Given the description of an element on the screen output the (x, y) to click on. 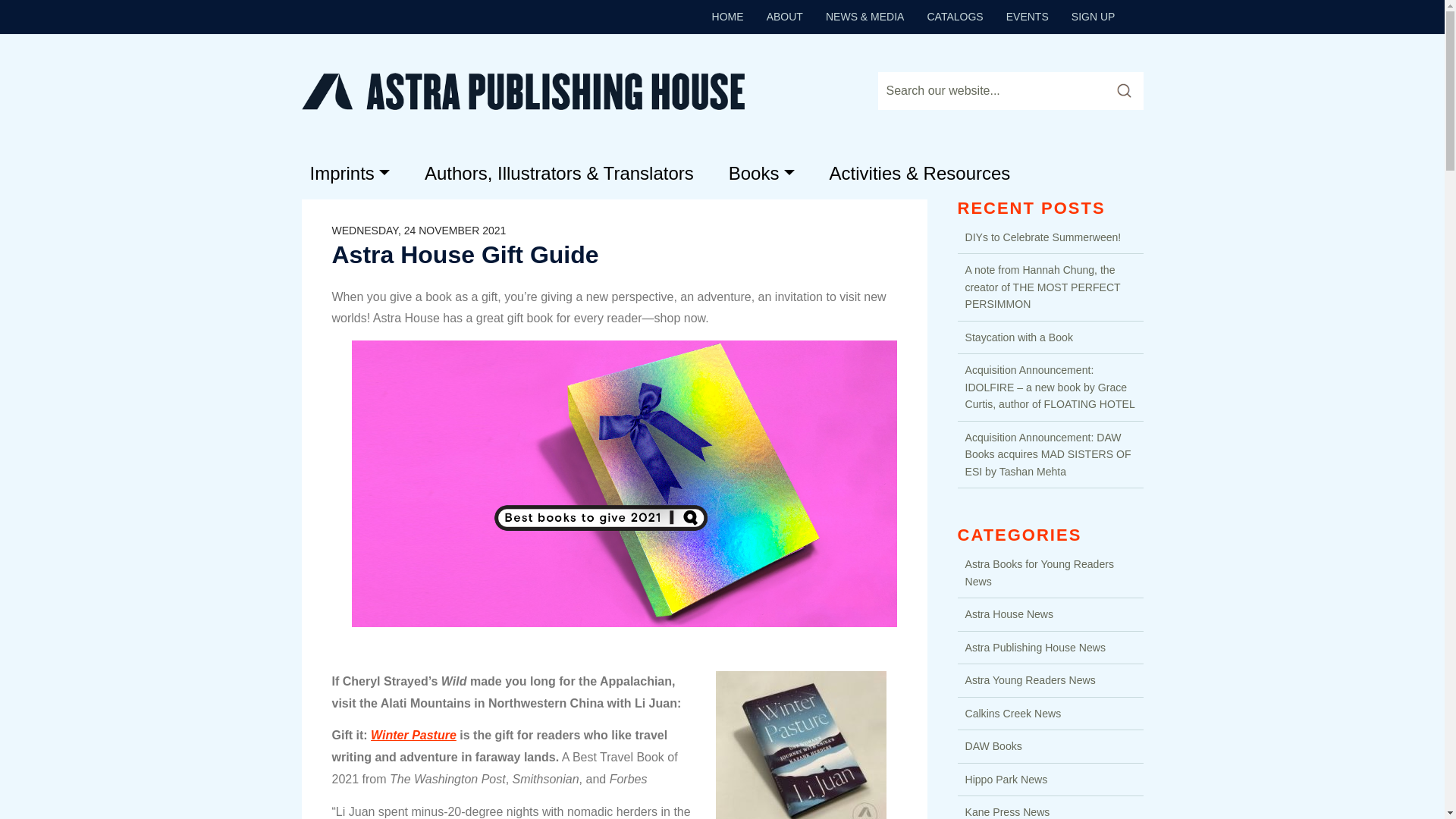
Books (761, 172)
SIGN UP (1093, 15)
EVENTS (1027, 15)
Imprints (349, 172)
Search our website... (989, 90)
Winter Pasture (414, 735)
HOME (727, 15)
ABOUT (784, 15)
CATALOGS (954, 15)
